Given the description of an element on the screen output the (x, y) to click on. 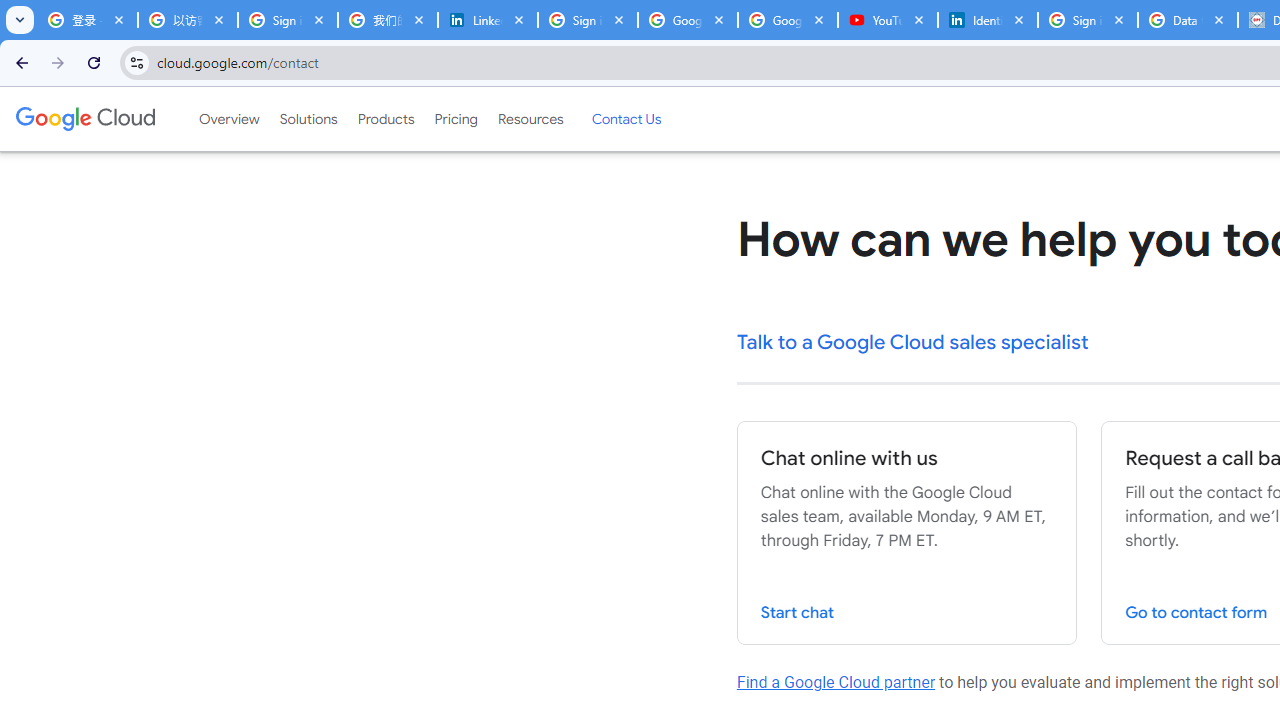
Products (385, 119)
Sign in - Google Accounts (587, 20)
Contact Us (626, 119)
Resources (530, 119)
Google Cloud (84, 118)
LinkedIn Privacy Policy (487, 20)
Sign in - Google Accounts (1087, 20)
Pricing (455, 119)
